Given the description of an element on the screen output the (x, y) to click on. 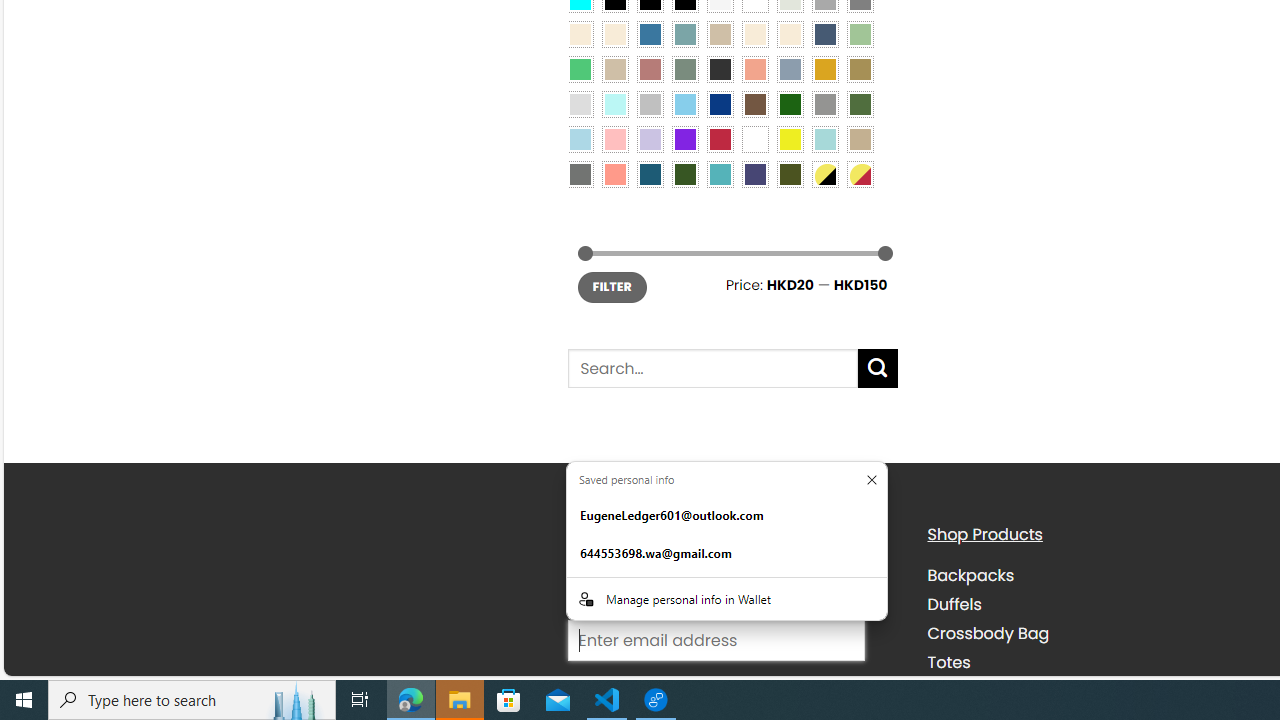
Purple (684, 138)
Army Green (789, 174)
EugeneLedger601@outlook.com. :Basic info suggestion. (726, 515)
AutomationID: input_4_1 (716, 639)
Crossbody Bag (987, 633)
Dull Nickle (579, 174)
Mint (614, 103)
Caramel (755, 33)
Silver (650, 103)
Blue (650, 33)
Crossbody Bag (1092, 633)
Cream (789, 33)
Duffels (1092, 604)
Kelp (859, 69)
Capri Blue (650, 174)
